Given the description of an element on the screen output the (x, y) to click on. 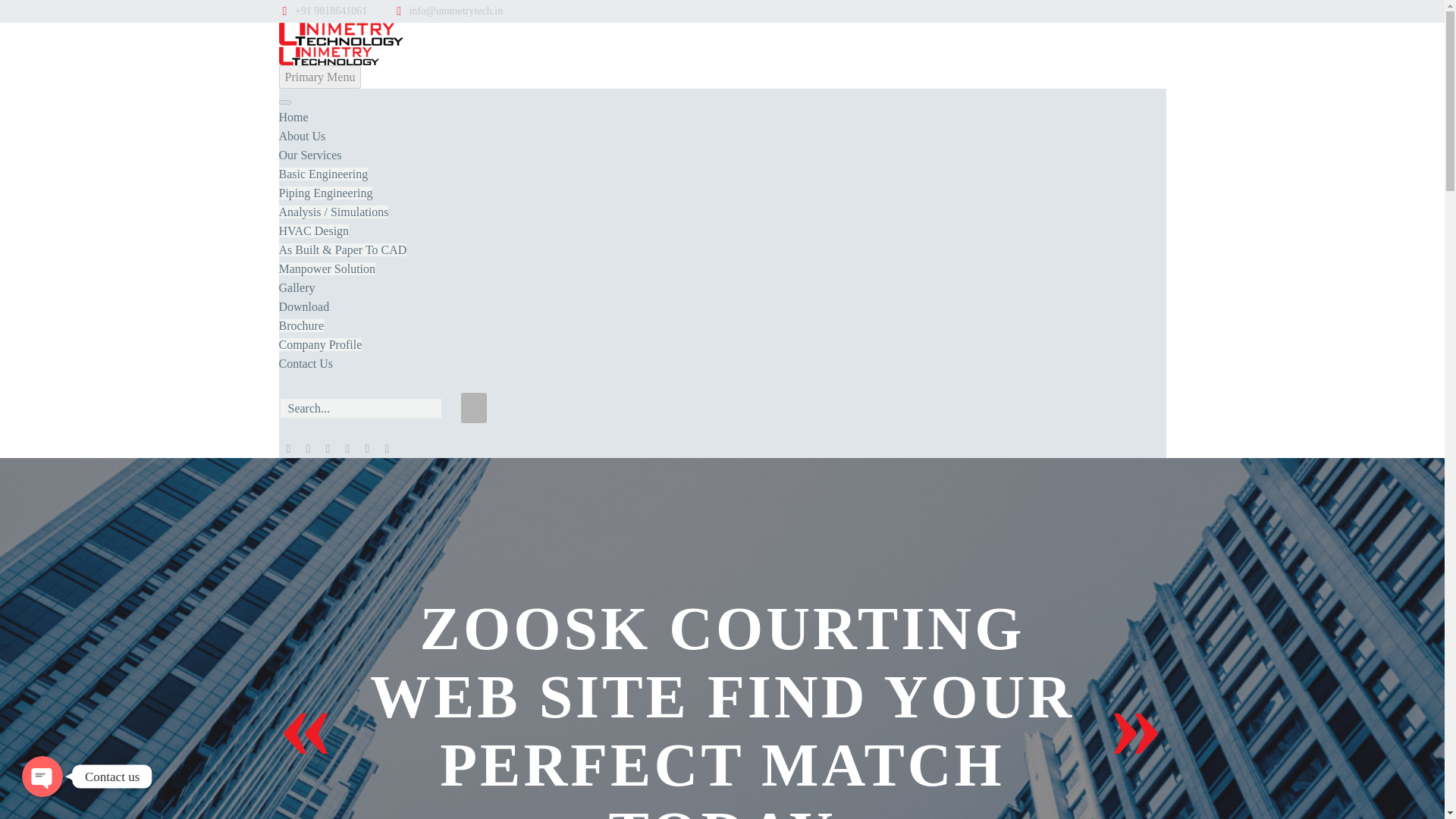
Contact Us (306, 363)
Download (304, 306)
Gallery (297, 287)
Primary Menu (320, 76)
YouTube (386, 450)
Twitter (327, 450)
Company Profile (320, 344)
About Us (302, 135)
Manpower Solution (327, 268)
HVAC Design (314, 230)
Pinterest (366, 450)
Facebook (288, 450)
Basic Engineering (323, 173)
Piping Engineering (325, 192)
Our Services (310, 154)
